Given the description of an element on the screen output the (x, y) to click on. 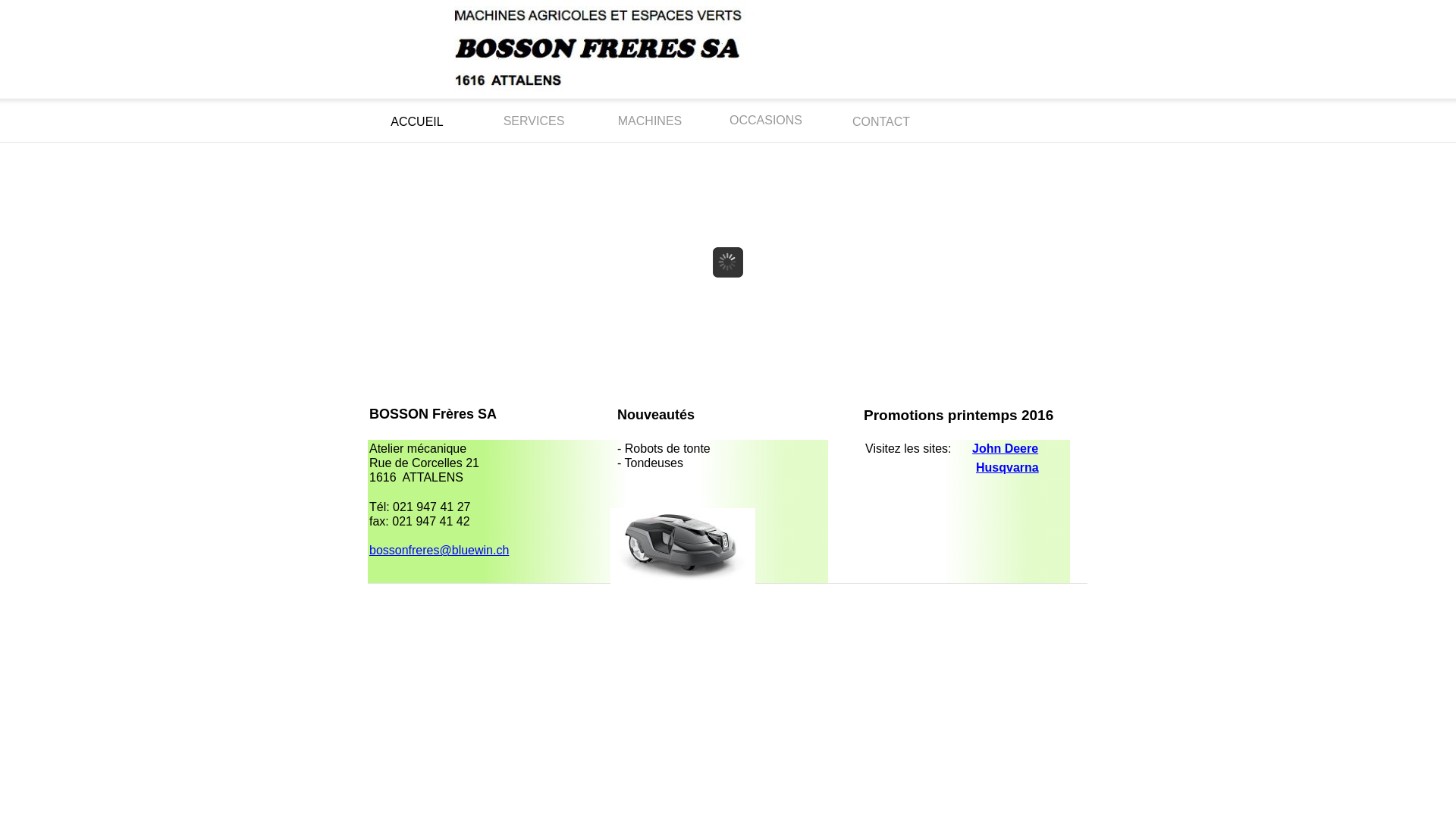
OCCASIONS Element type: text (765, 119)
ACCUEIL Element type: text (416, 121)
CONTACT Element type: text (880, 121)
SERVICES Element type: text (533, 119)
MACHINES Element type: text (649, 119)
OCCASIONS Element type: text (765, 120)
  Element type: text (368, 576)
CONTACT Element type: text (881, 121)
  Element type: text (368, 6)
John Deere Element type: text (1005, 448)
SERVICES Element type: text (533, 120)
ACCUEIL Element type: text (416, 121)
MACHINES Element type: text (649, 120)
Husqvarna Element type: text (1006, 467)
bossonfreres@bluewin.ch Element type: text (438, 549)
